Given the description of an element on the screen output the (x, y) to click on. 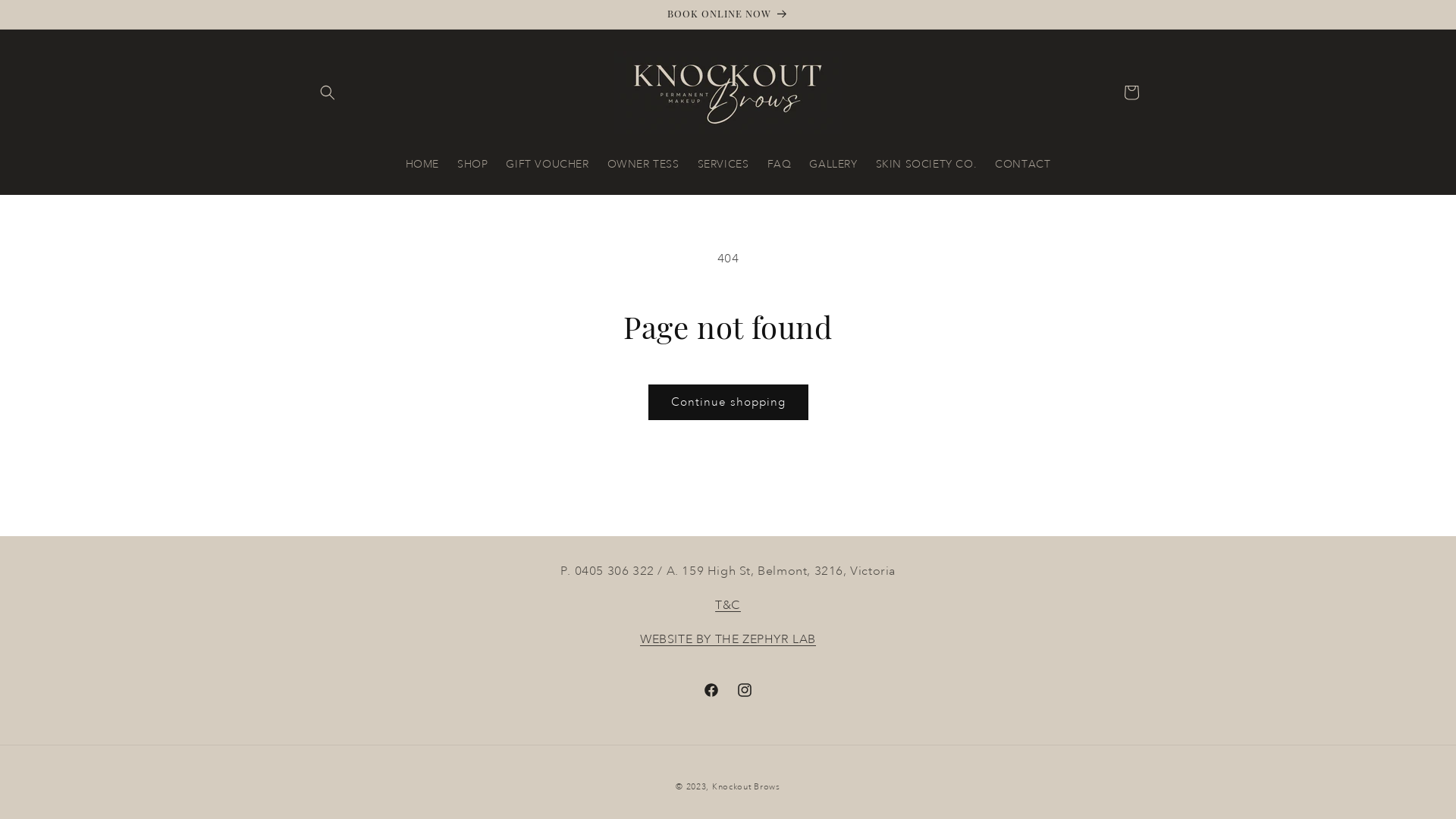
SERVICES Element type: text (723, 162)
GIFT VOUCHER Element type: text (546, 162)
Instagram Element type: text (744, 689)
SHOP Element type: text (472, 162)
GALLERY Element type: text (833, 162)
Cart Element type: text (1131, 92)
Continue shopping Element type: text (727, 402)
WEBSITE BY THE ZEPHYR LAB Element type: text (727, 638)
CONTACT Element type: text (1022, 162)
BOOK ONLINE NOW Element type: text (727, 14)
T&C Element type: text (727, 604)
Facebook Element type: text (711, 689)
OWNER TESS Element type: text (643, 162)
Knockout Brows Element type: text (746, 786)
HOME Element type: text (422, 162)
FAQ Element type: text (779, 162)
SKIN SOCIETY CO. Element type: text (926, 162)
